Given the description of an element on the screen output the (x, y) to click on. 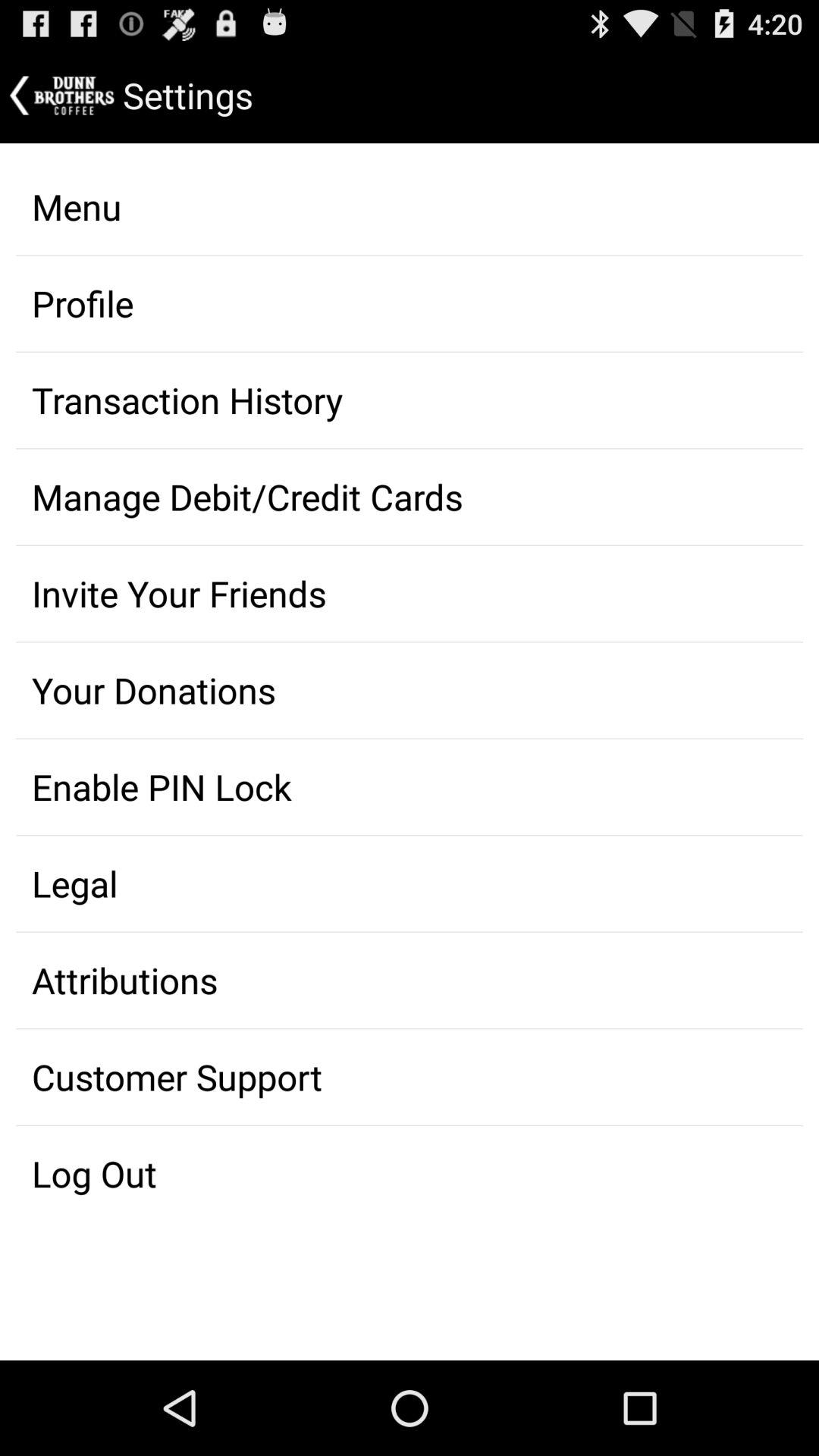
select icon above enable pin lock item (409, 690)
